Given the description of an element on the screen output the (x, y) to click on. 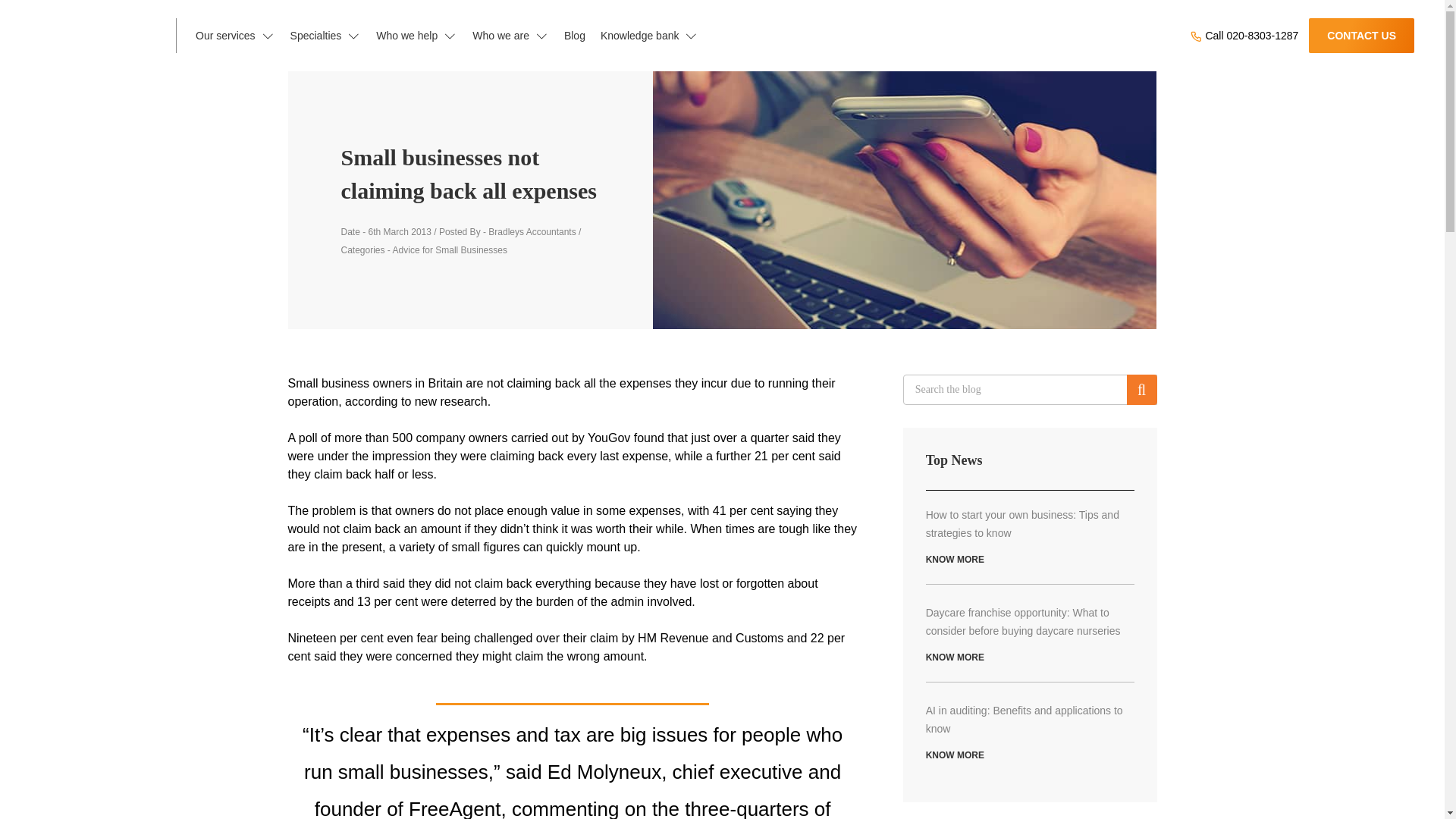
Our services (234, 35)
Knowledge bank (649, 35)
Who we are (510, 35)
Specialties (325, 35)
Who we help (416, 35)
